Given the description of an element on the screen output the (x, y) to click on. 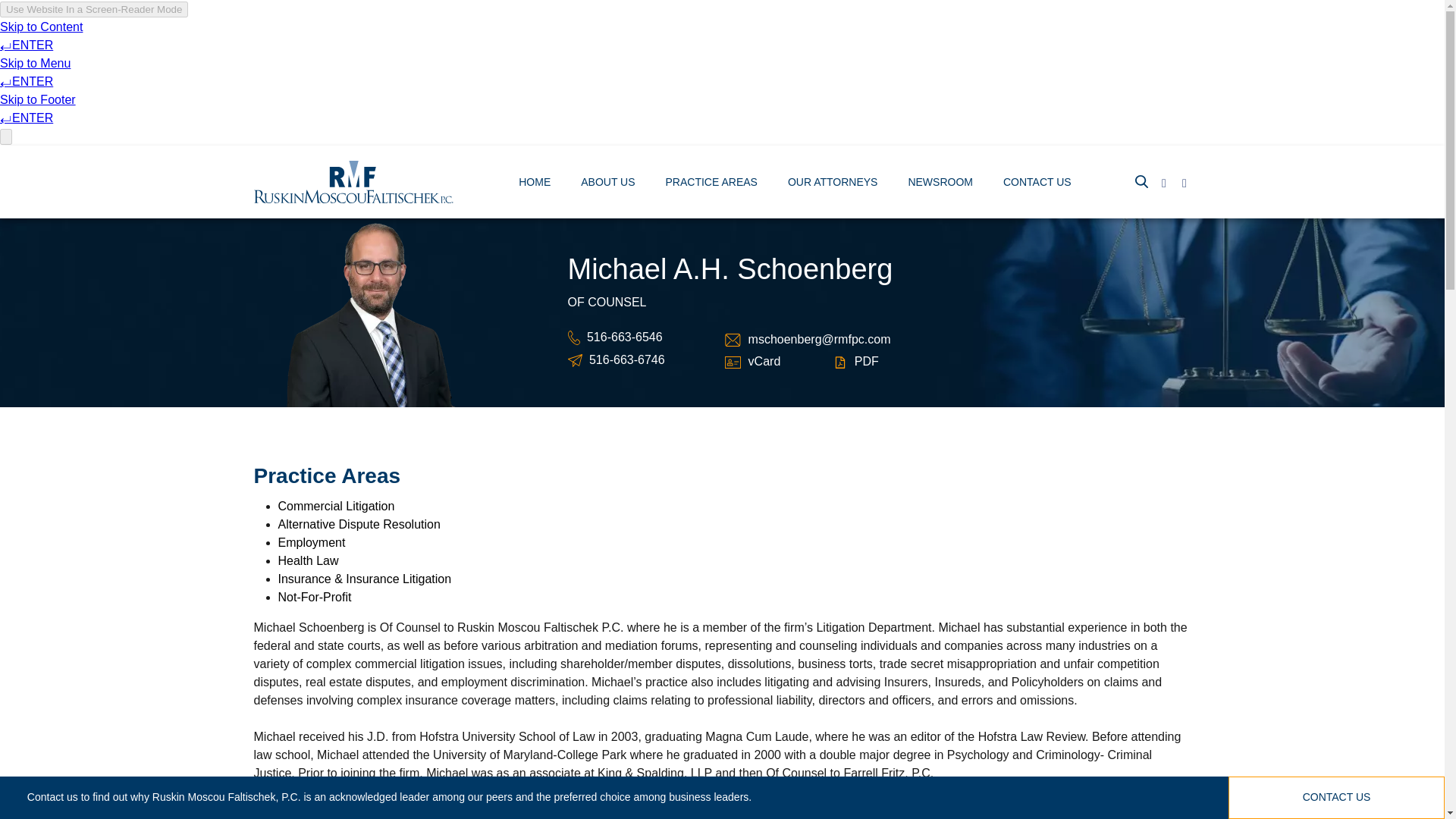
HOME (534, 183)
ABOUT US (607, 183)
PDF (866, 360)
Commercial Litigation (336, 505)
CONTACT US (1037, 183)
NEWSROOM (939, 183)
vCard (764, 360)
Not-For-Profit (314, 596)
Alternative Dispute Resolution (358, 523)
Health Law (307, 560)
516-663-6746 (627, 359)
OUR ATTORNEYS (832, 183)
Employment (311, 542)
516-663-6546 (624, 336)
PRACTICE AREAS (711, 183)
